Given the description of an element on the screen output the (x, y) to click on. 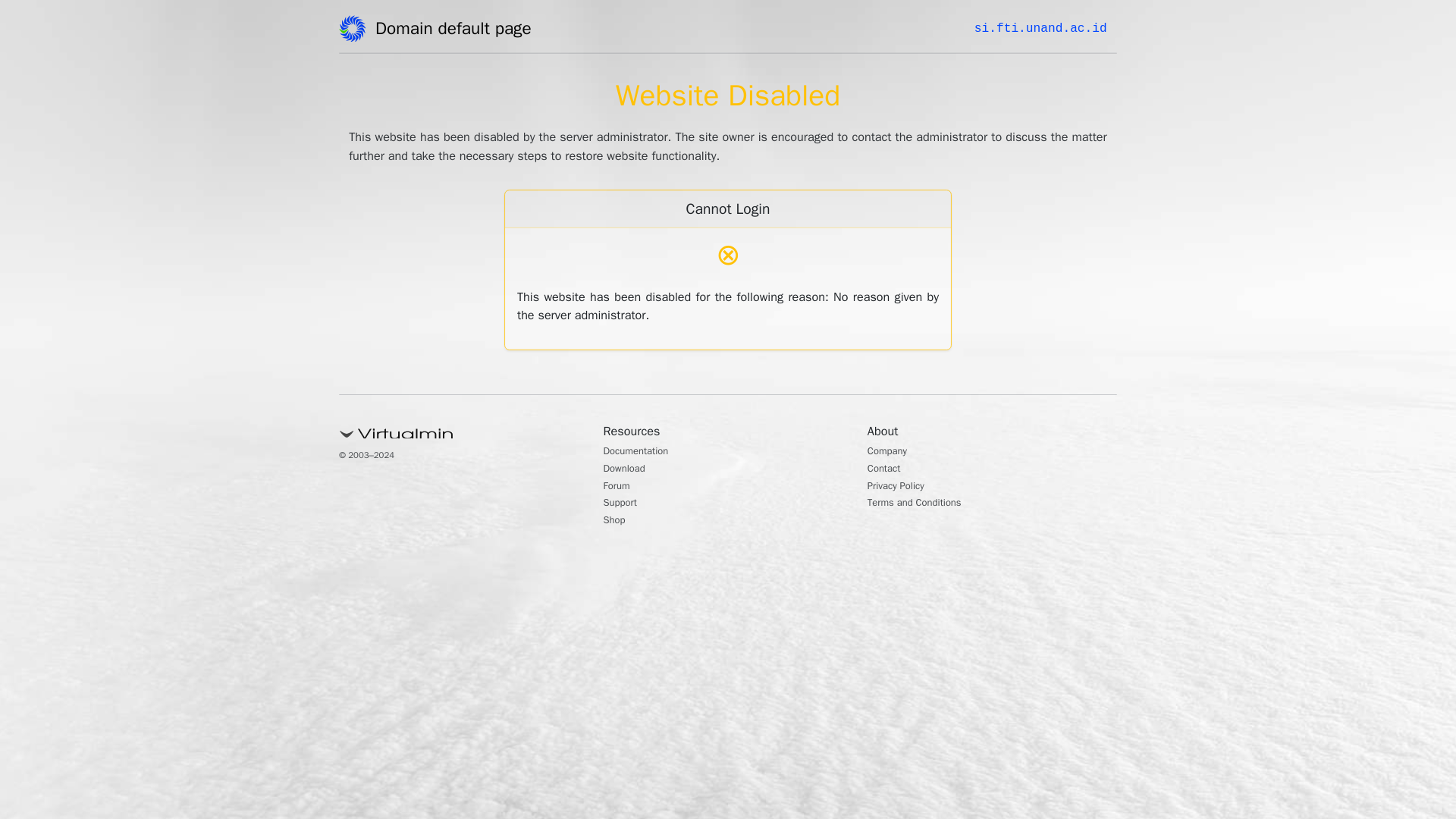
Company (891, 452)
Domain default page (457, 31)
Forum (620, 487)
Shop (617, 521)
Terms and Conditions (925, 503)
Support (624, 503)
Contact (887, 469)
Documentation (644, 452)
Privacy Policy (902, 487)
Download (629, 469)
